Given the description of an element on the screen output the (x, y) to click on. 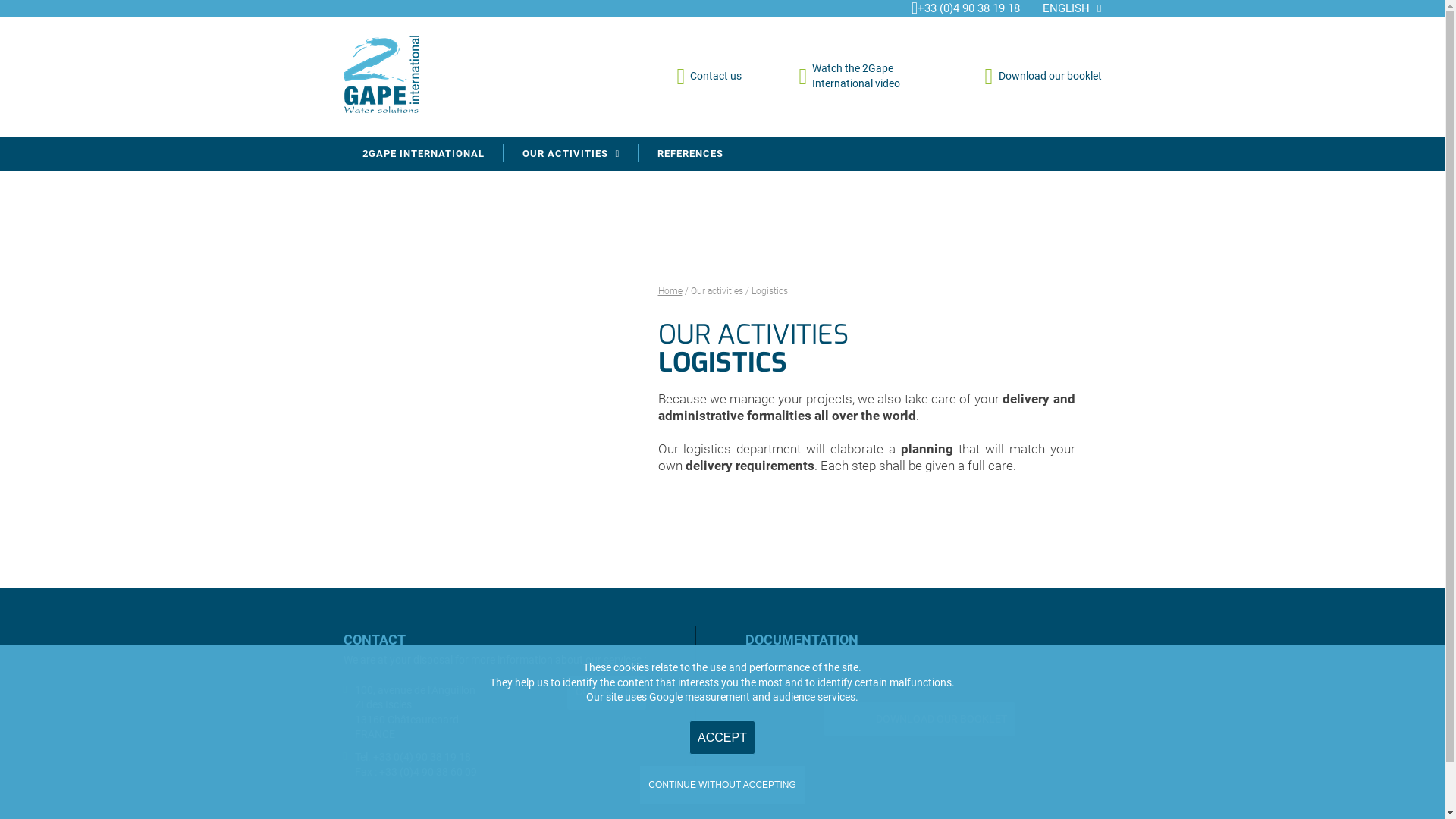
ENGLISH Element type: text (1071, 7)
OUR ACTIVITIES Element type: text (571, 153)
DOWNLOAD OUR BOOKLET Element type: text (918, 719)
Contact us Element type: text (708, 76)
REFERENCES Element type: text (690, 153)
Watch the 2Gape International video Element type: text (863, 76)
ACCEPT Element type: text (722, 737)
2GAPE INTERNATIONAL Element type: text (422, 153)
Home Element type: text (670, 290)
CONTACT US Element type: text (606, 692)
CONTINUE WITHOUT ACCEPTING Element type: text (721, 784)
Download our booklet Element type: text (1043, 76)
